Given the description of an element on the screen output the (x, y) to click on. 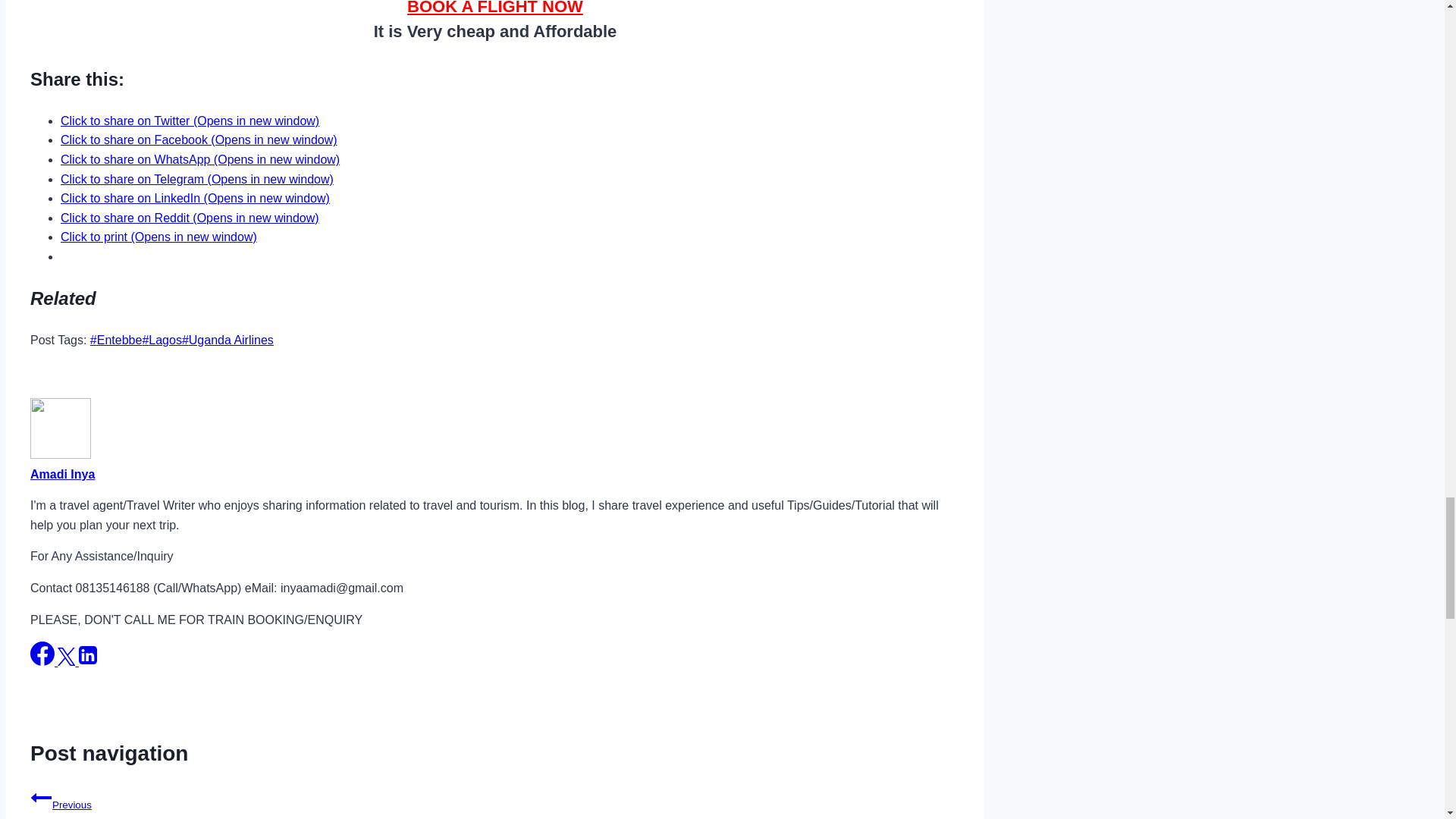
Click to share on Facebook (199, 139)
X (66, 656)
Follow Amadi Inya on Facebook (44, 661)
Previous (41, 797)
Click to print (159, 236)
Click to share on WhatsApp (200, 159)
Uganda Airlines (227, 339)
Click to share on Twitter (189, 120)
Follow Amadi Inya on X formerly Twitter (68, 661)
Click to share on Telegram (197, 178)
